Given the description of an element on the screen output the (x, y) to click on. 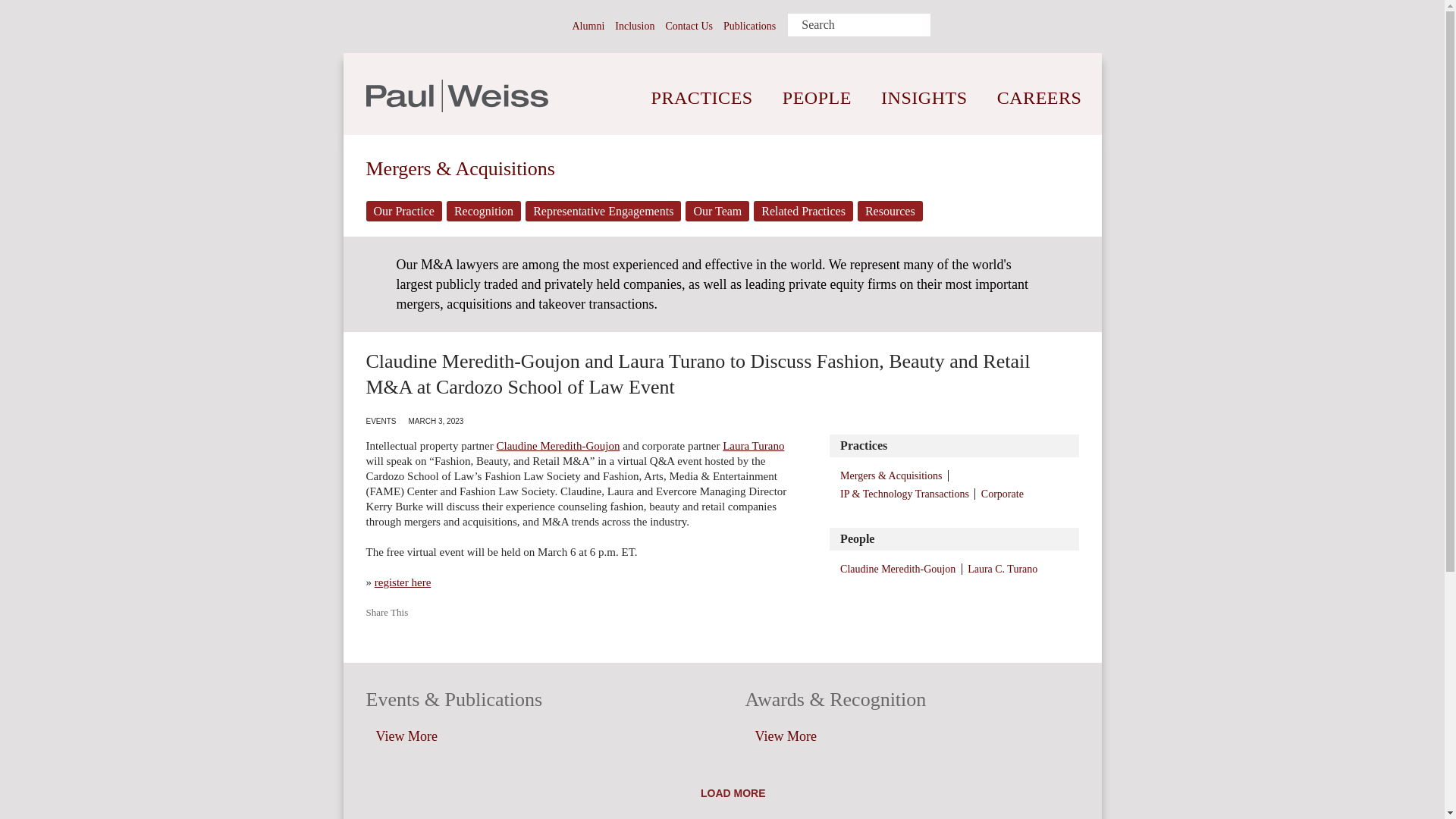
Print (522, 25)
Inclusion (633, 25)
logo (456, 95)
PRACTICES (702, 86)
SEARCH (944, 24)
Contact Us (689, 25)
Publications (749, 25)
RSS (550, 25)
Alumni (588, 25)
